Given the description of an element on the screen output the (x, y) to click on. 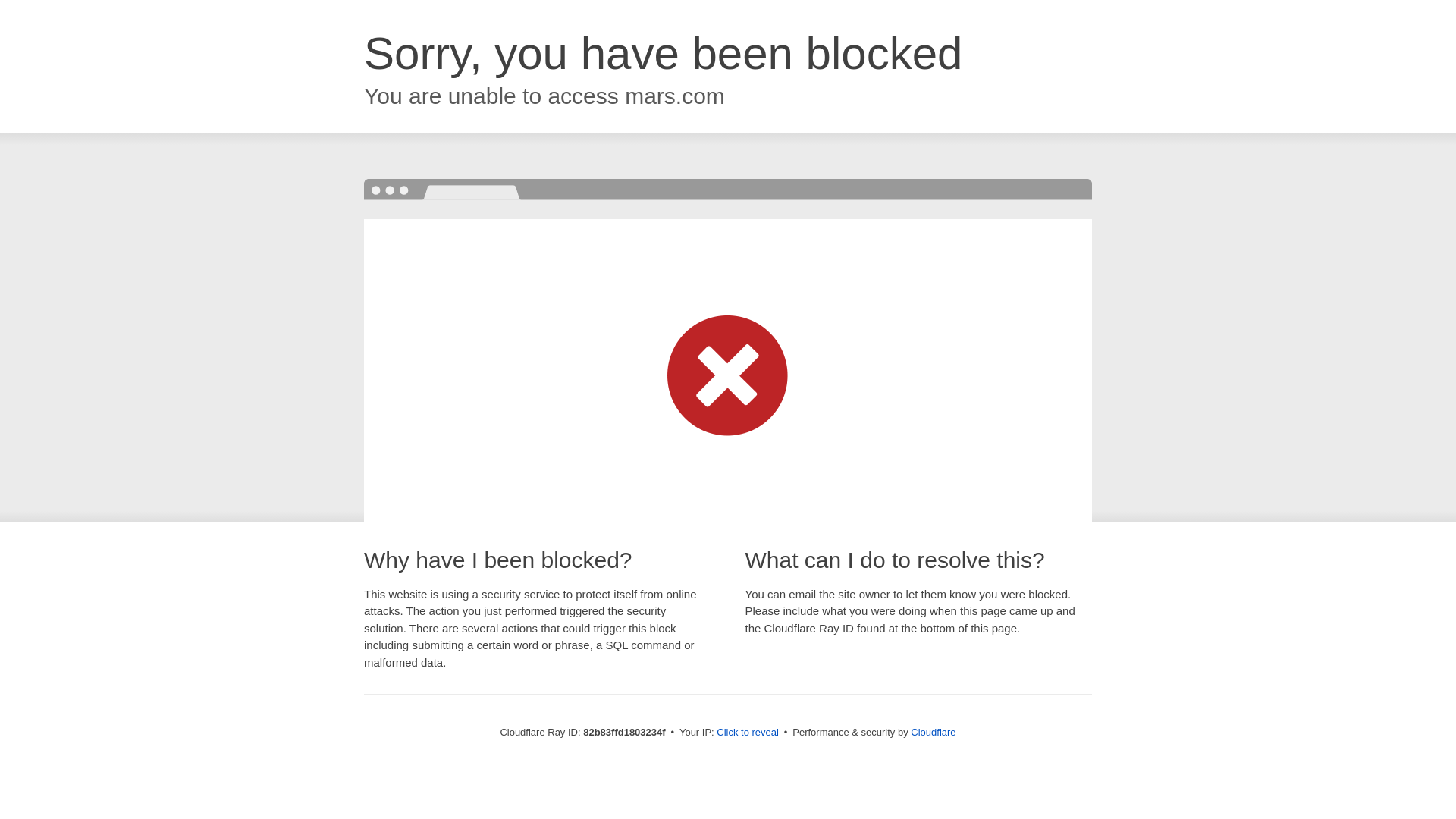
Cloudflare Element type: text (932, 731)
Click to reveal Element type: text (747, 732)
